Given the description of an element on the screen output the (x, y) to click on. 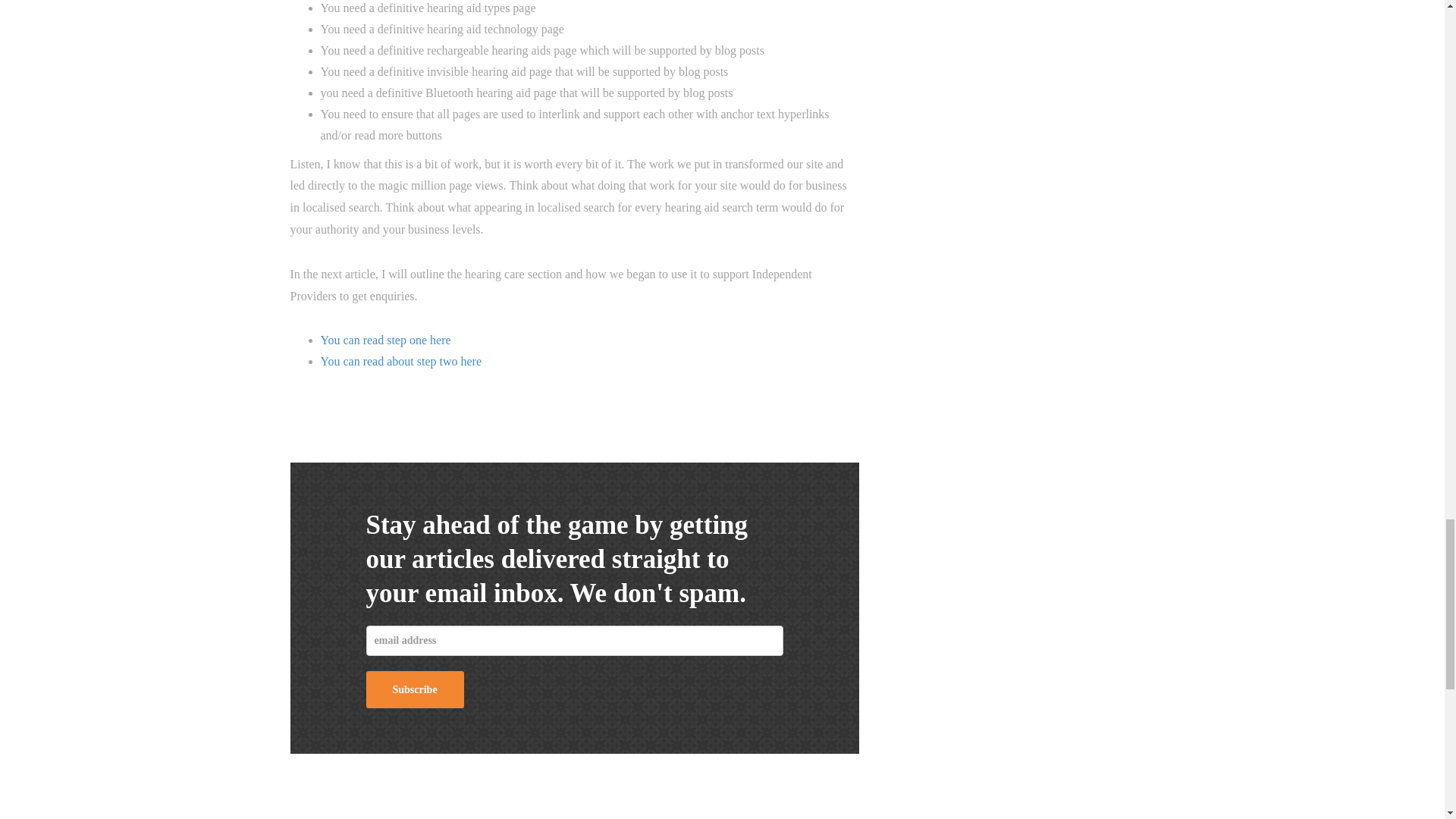
You can read step one here (384, 339)
You can read about step two here (400, 360)
Subscribe (414, 689)
Subscribe (414, 689)
